Given the description of an element on the screen output the (x, y) to click on. 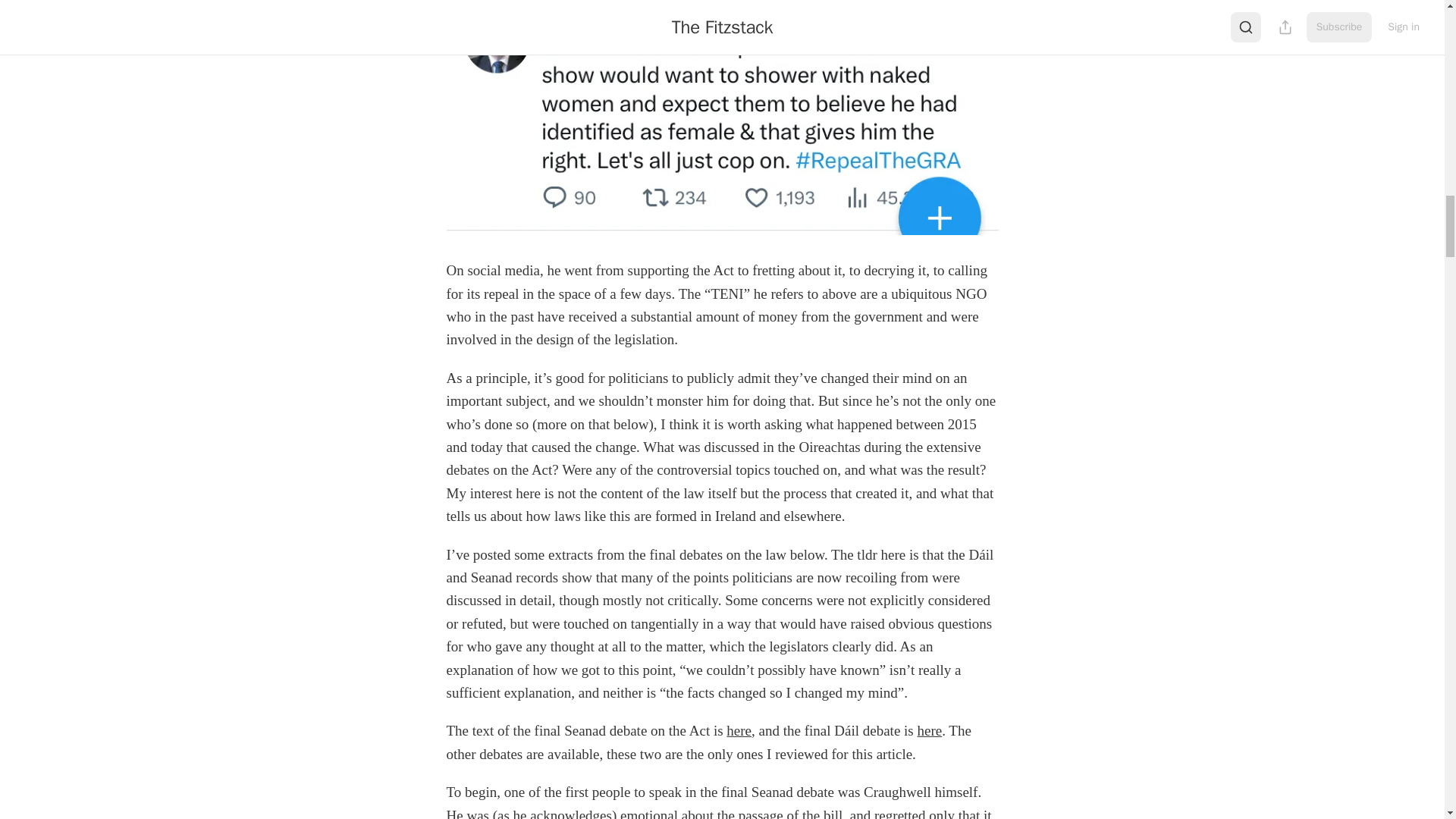
here (738, 730)
here (929, 730)
